Given the description of an element on the screen output the (x, y) to click on. 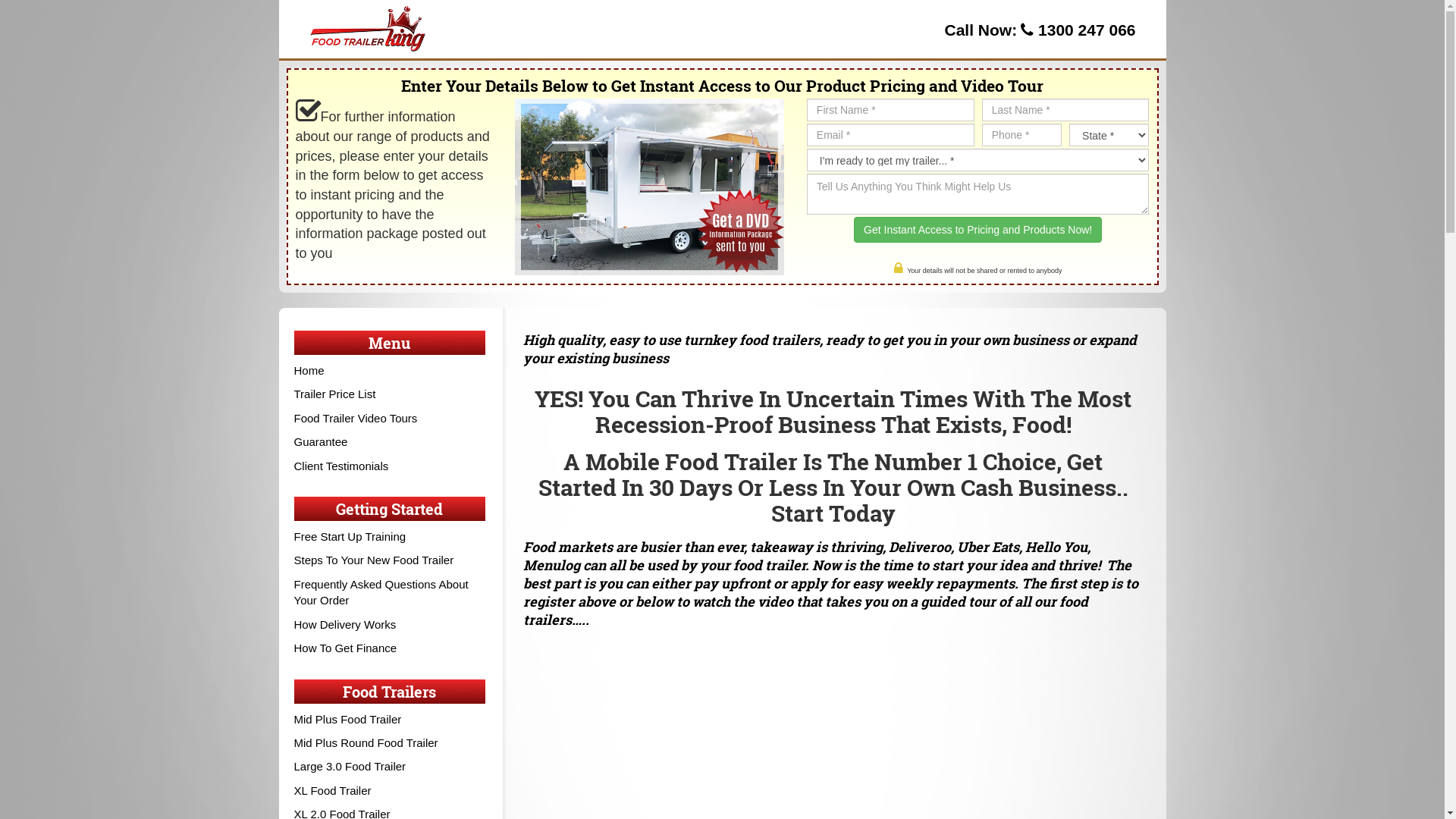
Guarantee Element type: text (321, 441)
Frequently Asked Questions About Your Order Element type: text (381, 591)
Mid Plus Food Trailer Element type: text (347, 718)
Client Testimonials Element type: text (341, 465)
Get Instant Access to Pricing and Products Now! Element type: text (977, 229)
Large 3.0 Food Trailer Element type: text (350, 765)
Steps To Your New Food Trailer Element type: text (374, 559)
How To Get Finance Element type: text (345, 647)
How Delivery Works Element type: text (345, 624)
XL Food Trailer Element type: text (332, 790)
1300 247 066 Element type: text (1086, 29)
Free Start Up Training Element type: text (350, 536)
Mid Plus Round Food Trailer Element type: text (366, 742)
Home Element type: text (309, 370)
Food Trailer Video Tours Element type: text (355, 417)
Trailer Price List Element type: text (335, 393)
